Given the description of an element on the screen output the (x, y) to click on. 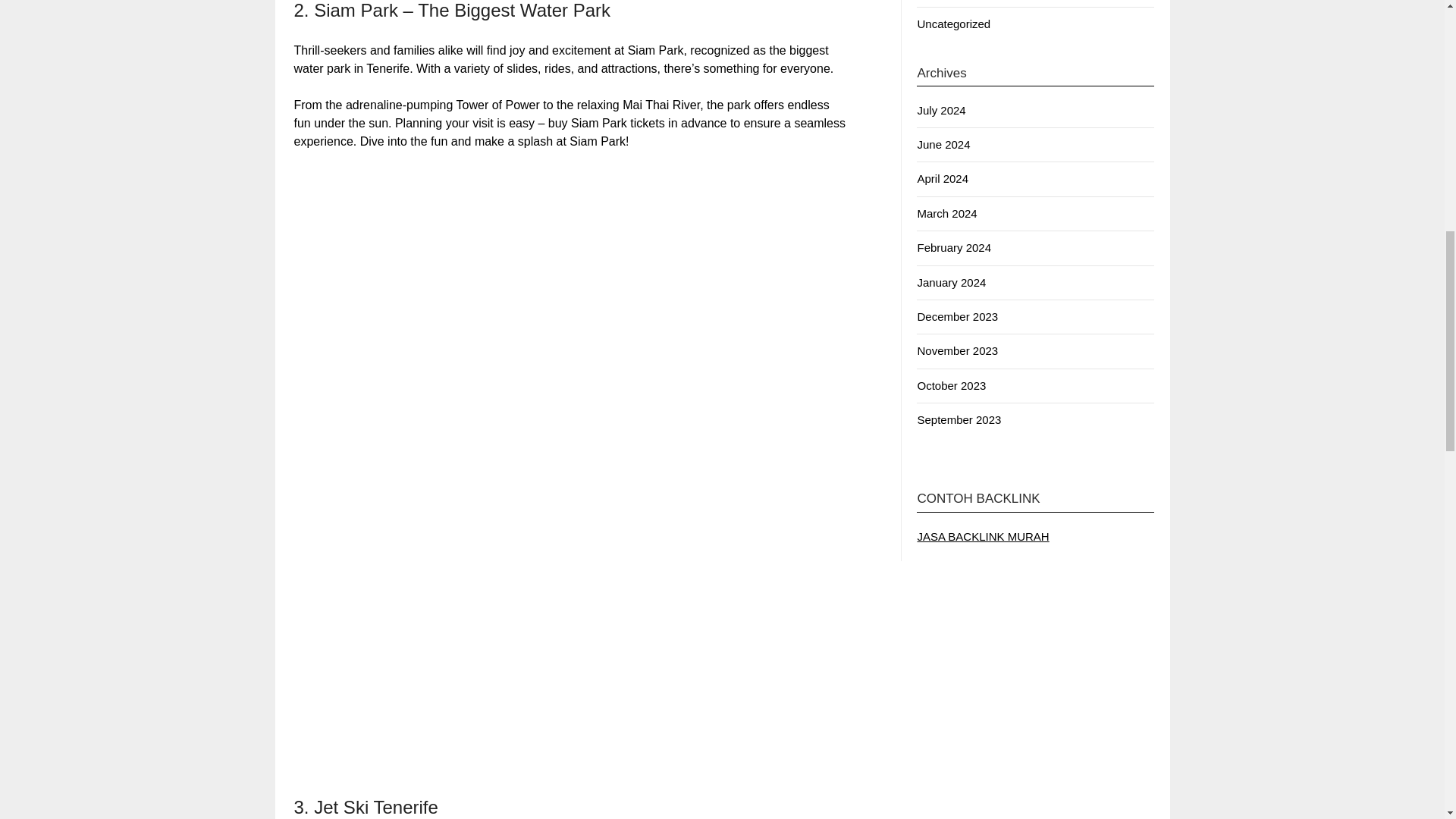
February 2024 (954, 246)
June 2024 (943, 144)
July 2024 (941, 110)
March 2024 (946, 213)
April 2024 (942, 178)
Uncategorized (953, 23)
